Given the description of an element on the screen output the (x, y) to click on. 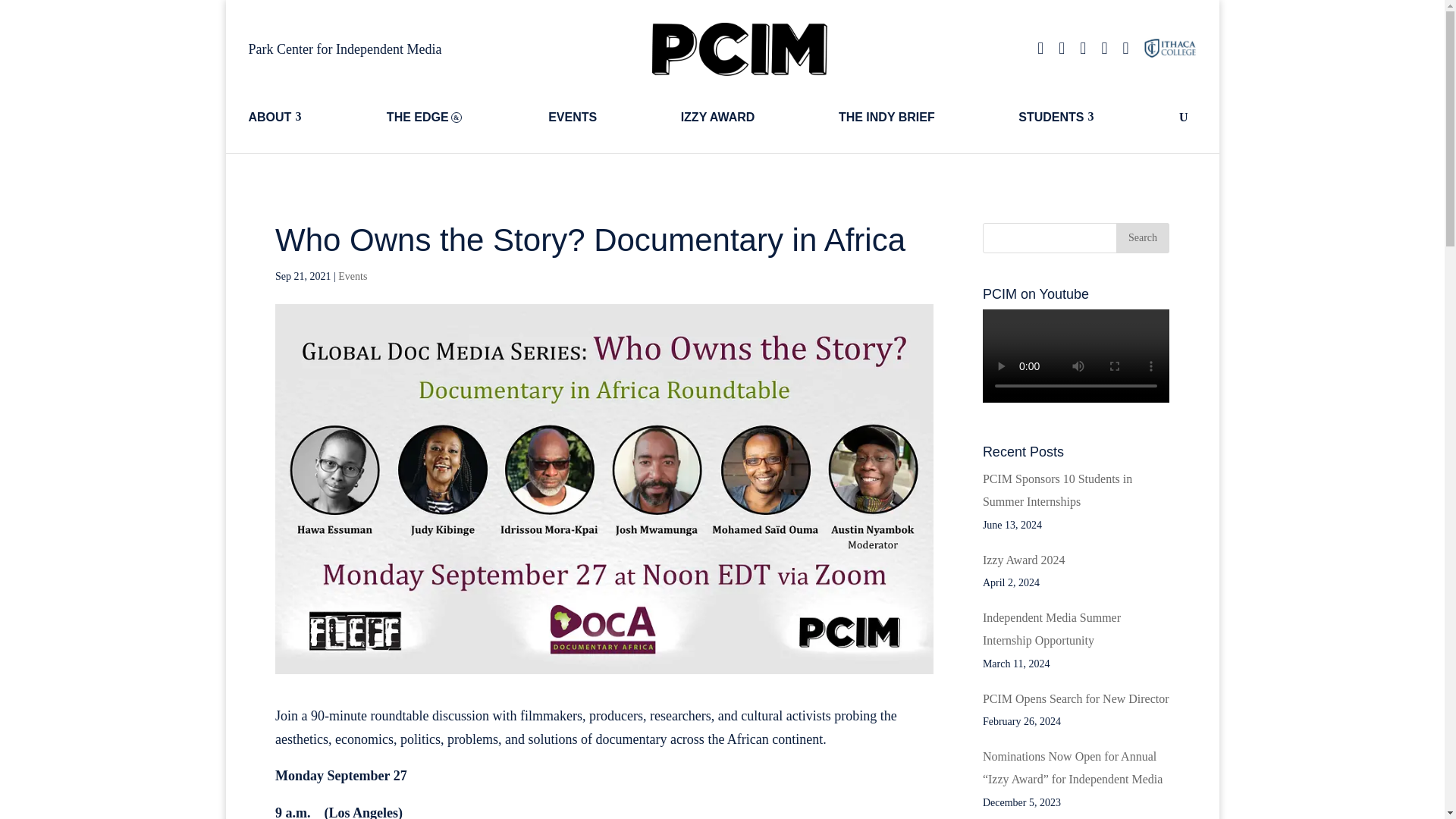
ABOUT (308, 117)
Izzy Award 2024 (1023, 559)
STUDENTS (1089, 117)
Events (351, 276)
IZZY AWARD (751, 117)
Ithaca College (1169, 48)
Search (1142, 237)
PMkP5l8s (739, 49)
PCIM Sponsors 10 Students in Summer Internships (1057, 490)
PCIM Opens Search for New Director (1075, 698)
EVENTS (605, 117)
THE INDY BRIEF (919, 117)
Independent Media Summer Internship Opportunity (1051, 628)
Search (1142, 237)
THE EDGE (459, 117)
